Given the description of an element on the screen output the (x, y) to click on. 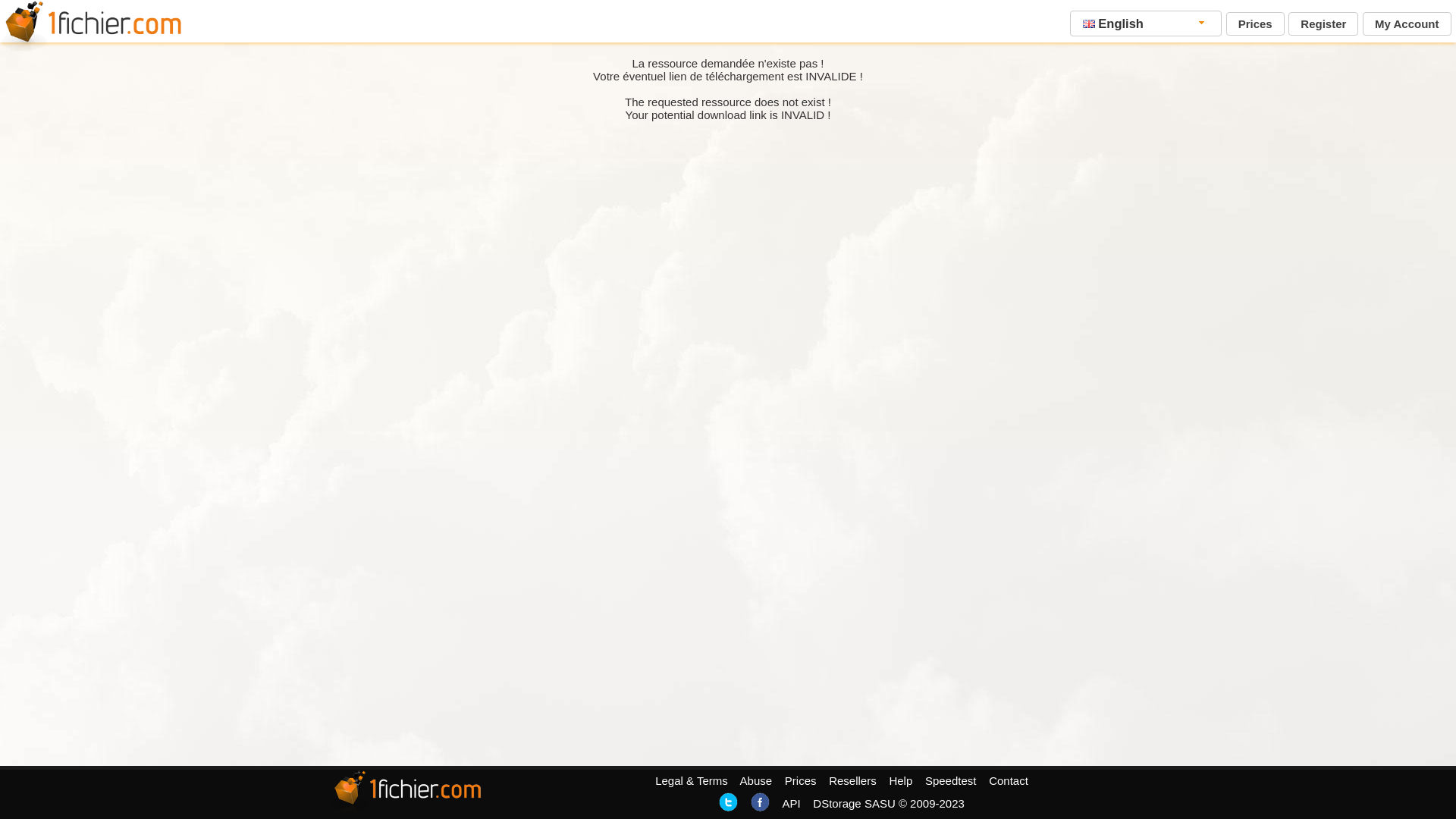
Register Element type: text (1323, 23)
API Element type: text (790, 803)
My Account Element type: text (1406, 23)
Contact Element type: text (1008, 780)
Help Element type: text (900, 780)
Prices Element type: text (1255, 23)
Prices Element type: text (800, 780)
Legal & Terms Element type: text (691, 780)
Resellers Element type: text (852, 780)
Abuse Element type: text (756, 780)
Speedtest Element type: text (950, 780)
